Given the description of an element on the screen output the (x, y) to click on. 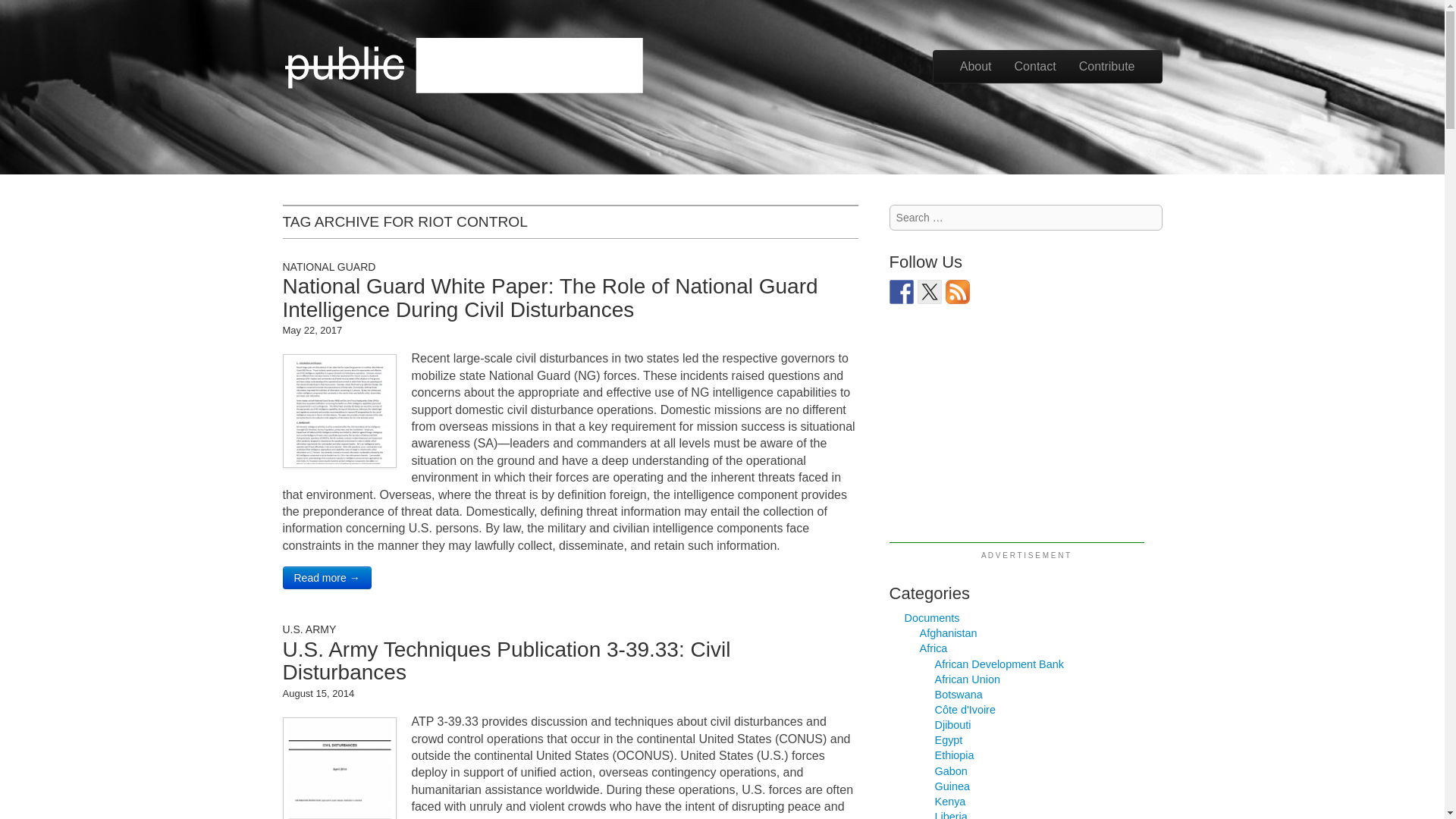
Follow us on Facebook (901, 291)
U.S. ARMY (309, 629)
May 22, 2017 (312, 329)
Skip to content (973, 57)
NATIONAL GUARD (328, 266)
Contribute (1107, 66)
U.S. Army Techniques Publication 3-39.33: Civil Disturbances (506, 661)
August 15, 2014 (317, 693)
Skip to content (973, 57)
Contact (1035, 66)
Public Intelligence (464, 63)
About (976, 66)
U.S. Army Techniques Publication 3-39.33: Civil Disturbances (506, 661)
